Given the description of an element on the screen output the (x, y) to click on. 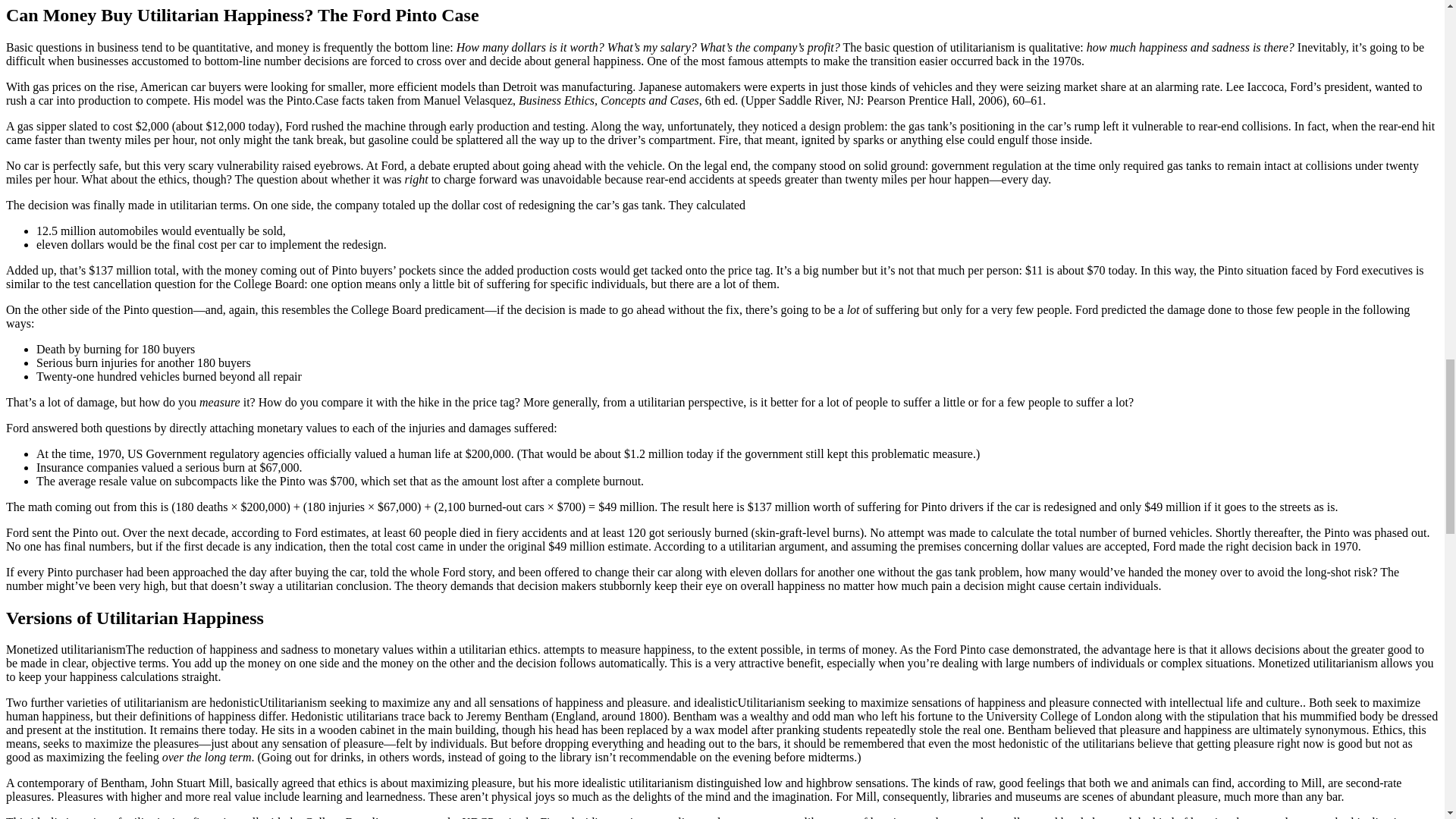
idealistic (716, 702)
hedonistic (234, 702)
Monetized utilitarianism (65, 649)
